Given the description of an element on the screen output the (x, y) to click on. 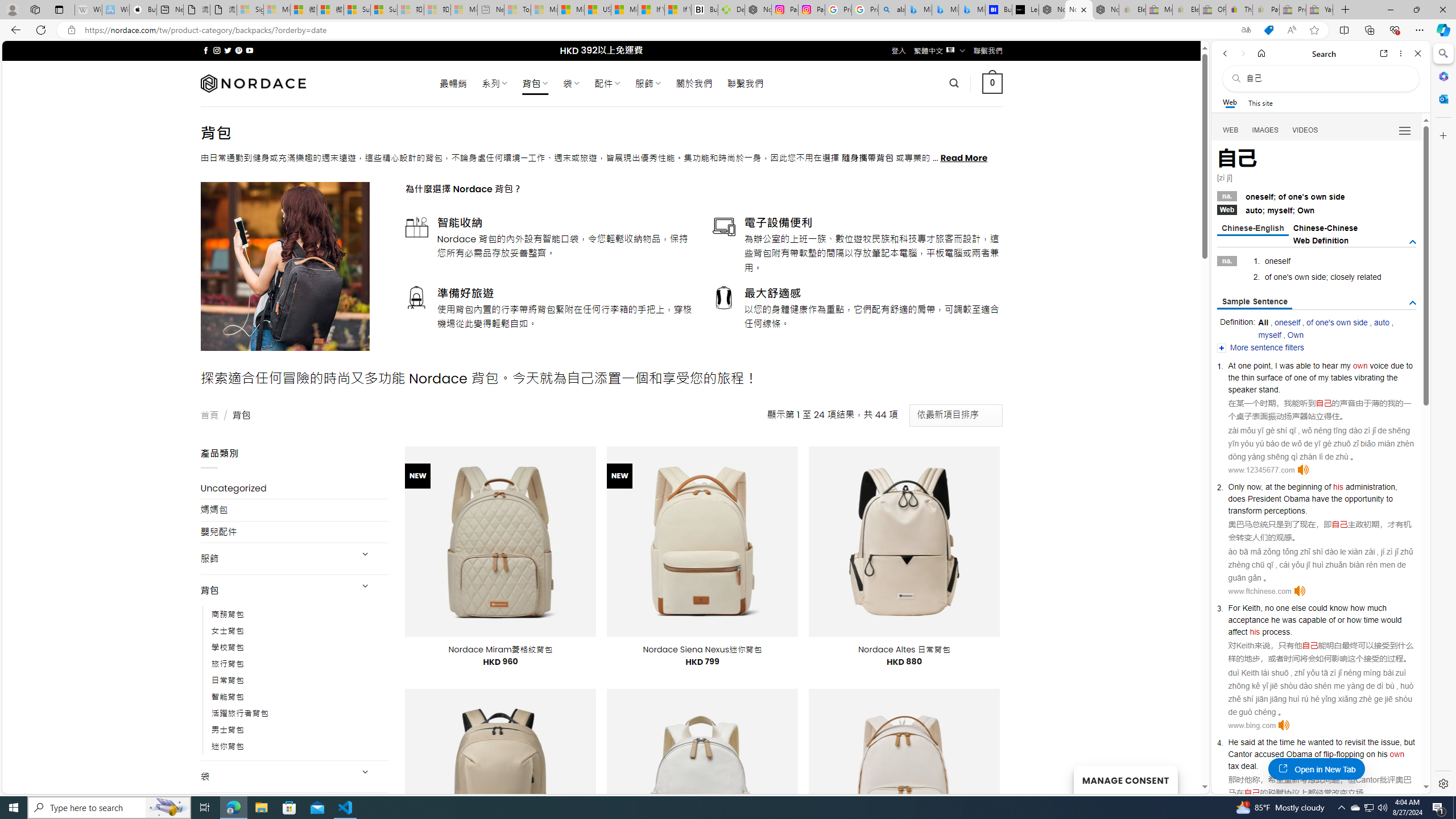
I (1275, 365)
beginning (1304, 486)
of one's own side (1336, 322)
thin (1247, 377)
acceptance (1248, 619)
Cantor (1367, 779)
administration (1369, 486)
Follow on YouTube (249, 50)
own (1397, 753)
able (1303, 365)
